Given the description of an element on the screen output the (x, y) to click on. 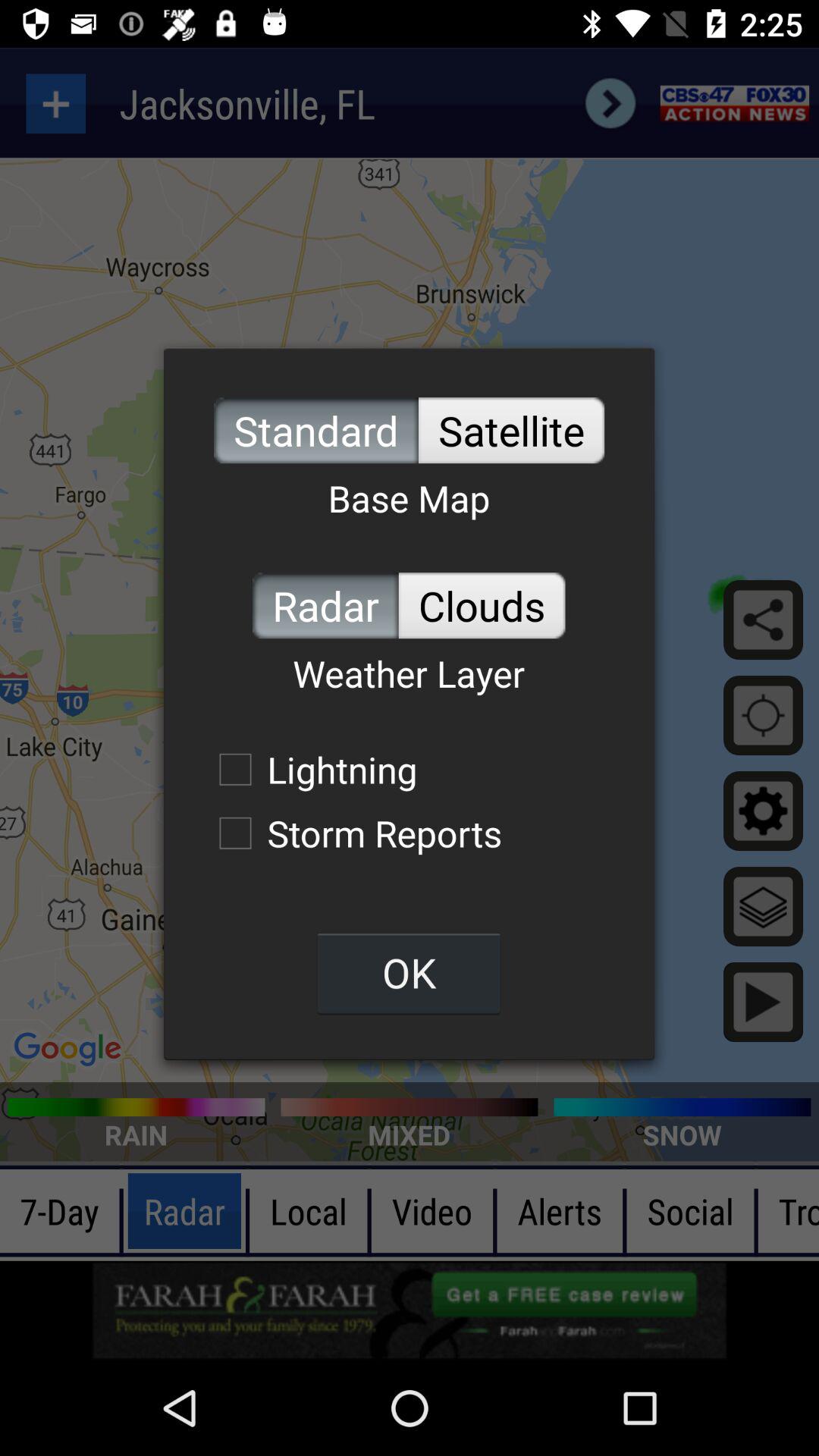
choose the item at the bottom (408, 972)
